Given the description of an element on the screen output the (x, y) to click on. 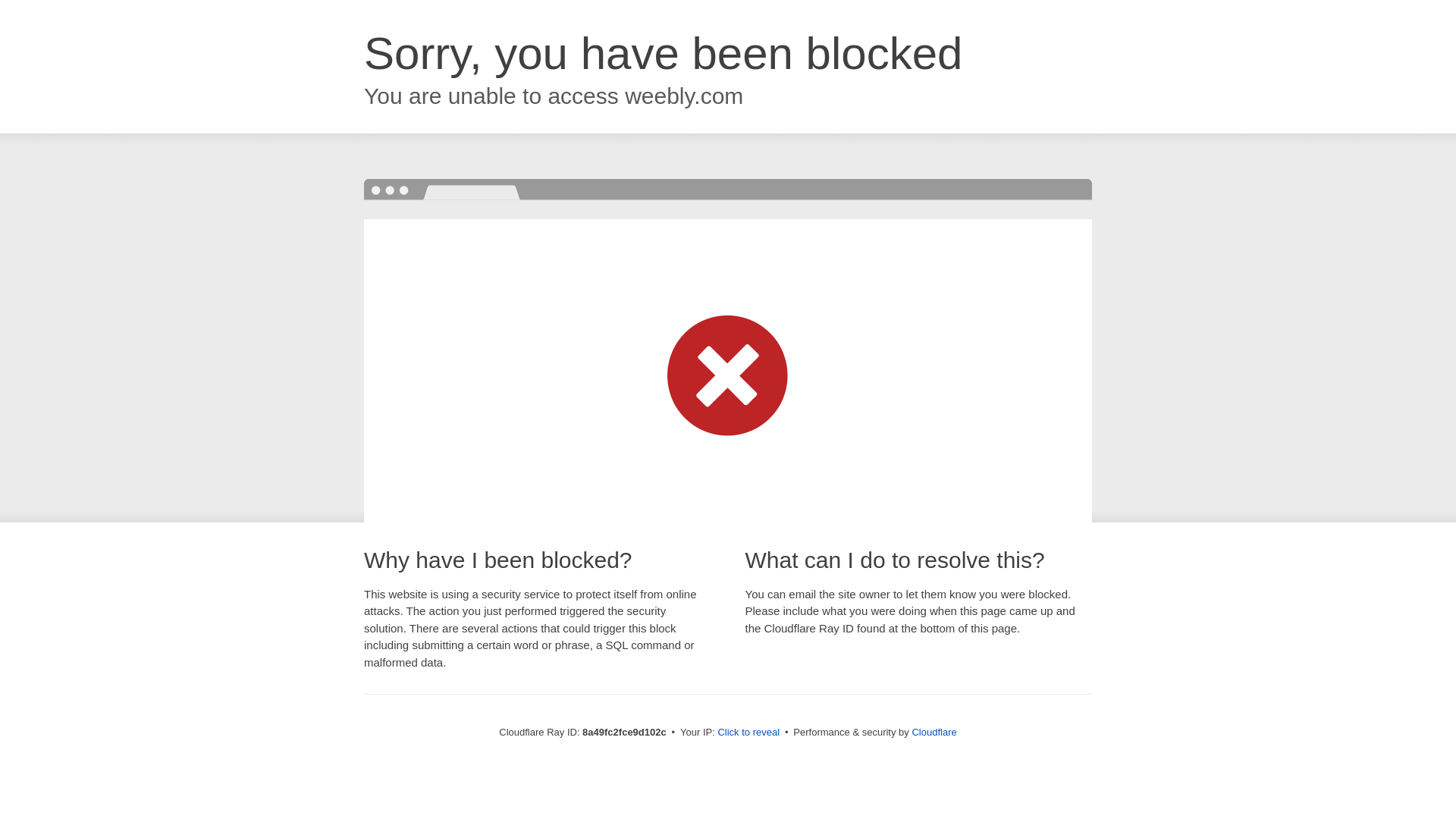
Cloudflare (933, 731)
Click to reveal (747, 732)
